Given the description of an element on the screen output the (x, y) to click on. 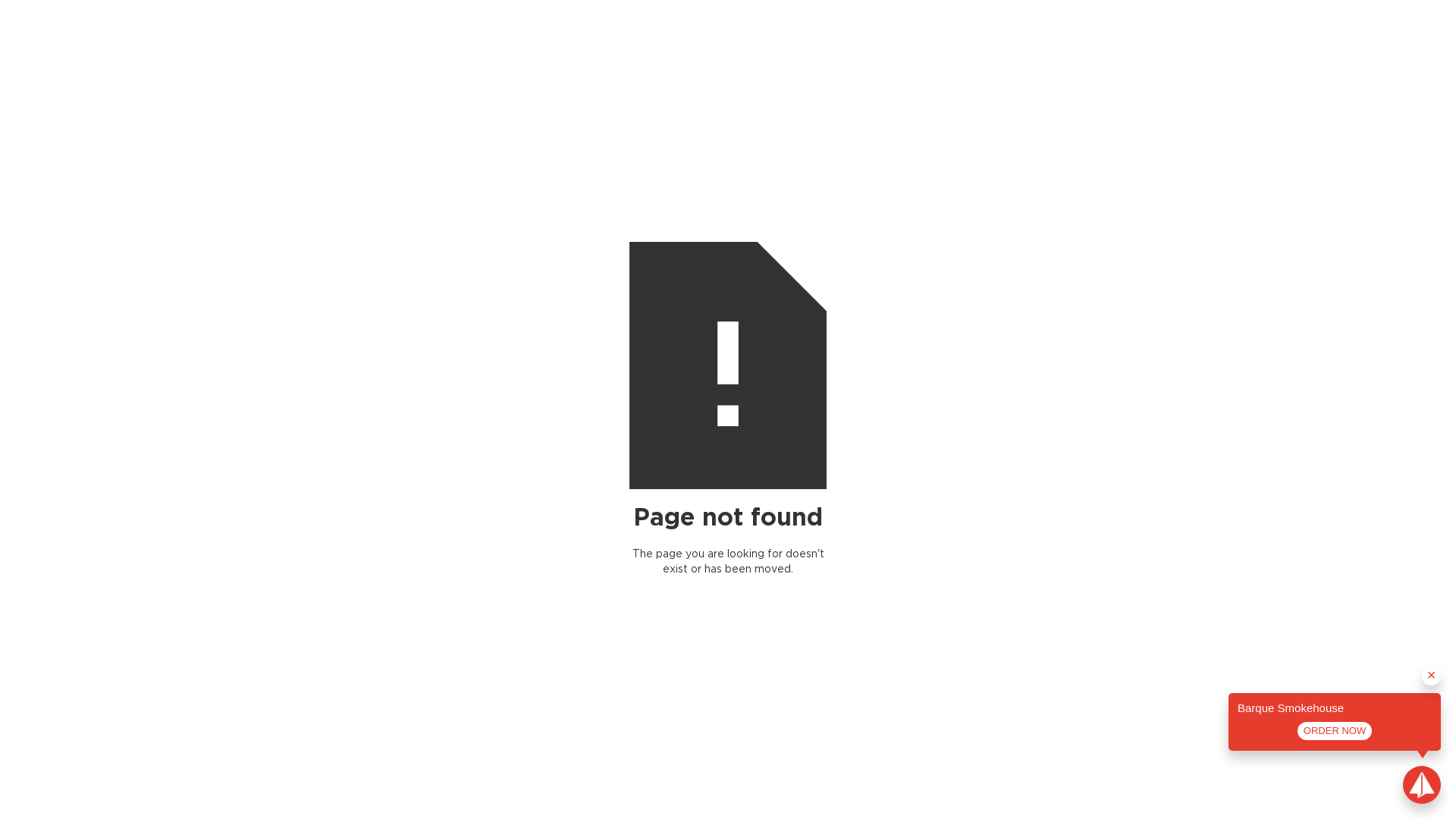
Open Ambassador window Element type: hover (1421, 784)
ORDER NOW Element type: text (1334, 730)
